Given the description of an element on the screen output the (x, y) to click on. 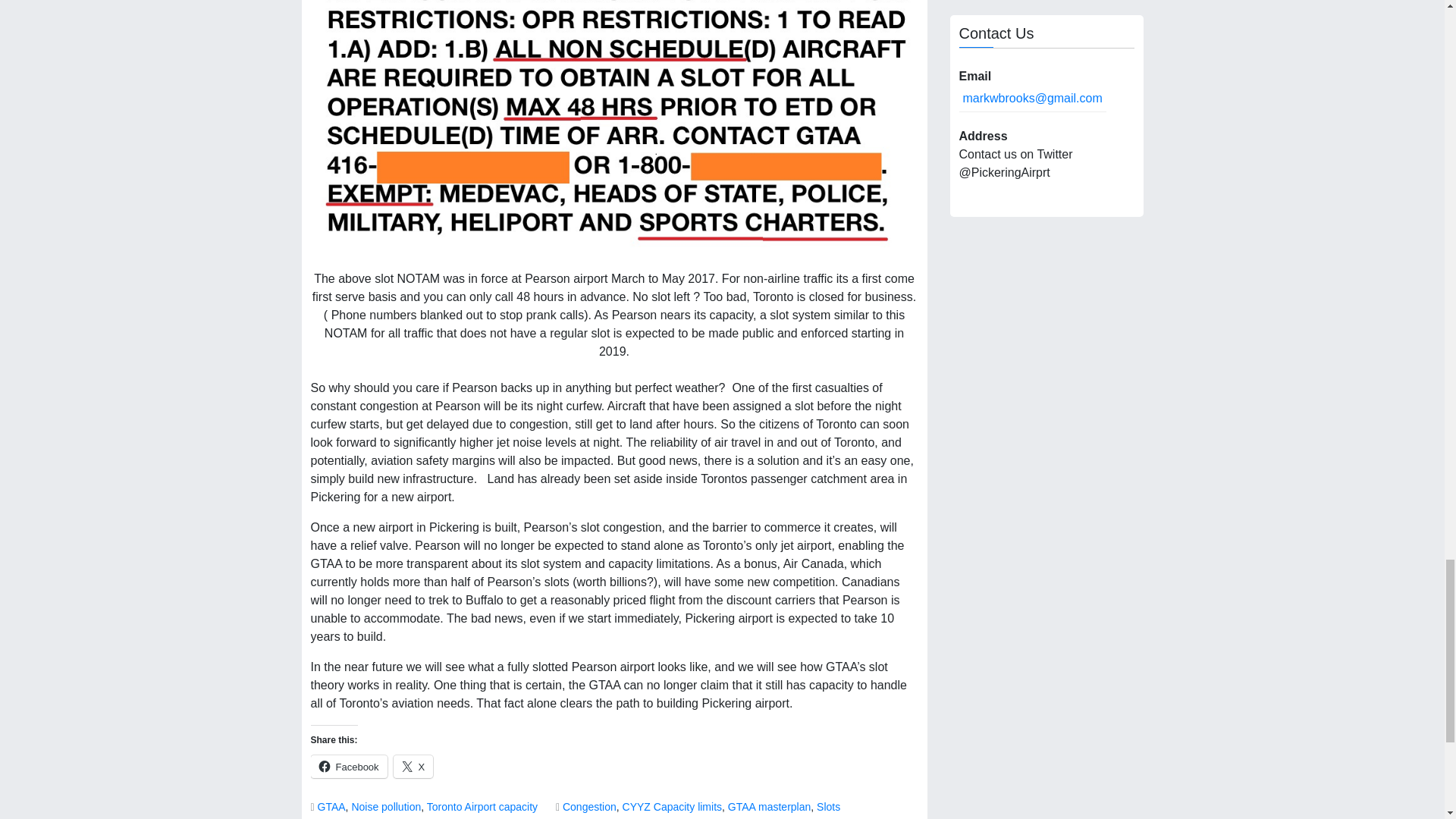
Noise pollution (385, 806)
Congestion (588, 806)
CYYZ Capacity limits (672, 806)
Click to share on X (413, 766)
X (413, 766)
Facebook (349, 766)
Slots (828, 806)
Toronto Airport capacity (481, 806)
Click to share on Facebook (349, 766)
GTAA (331, 806)
GTAA masterplan (769, 806)
